Given the description of an element on the screen output the (x, y) to click on. 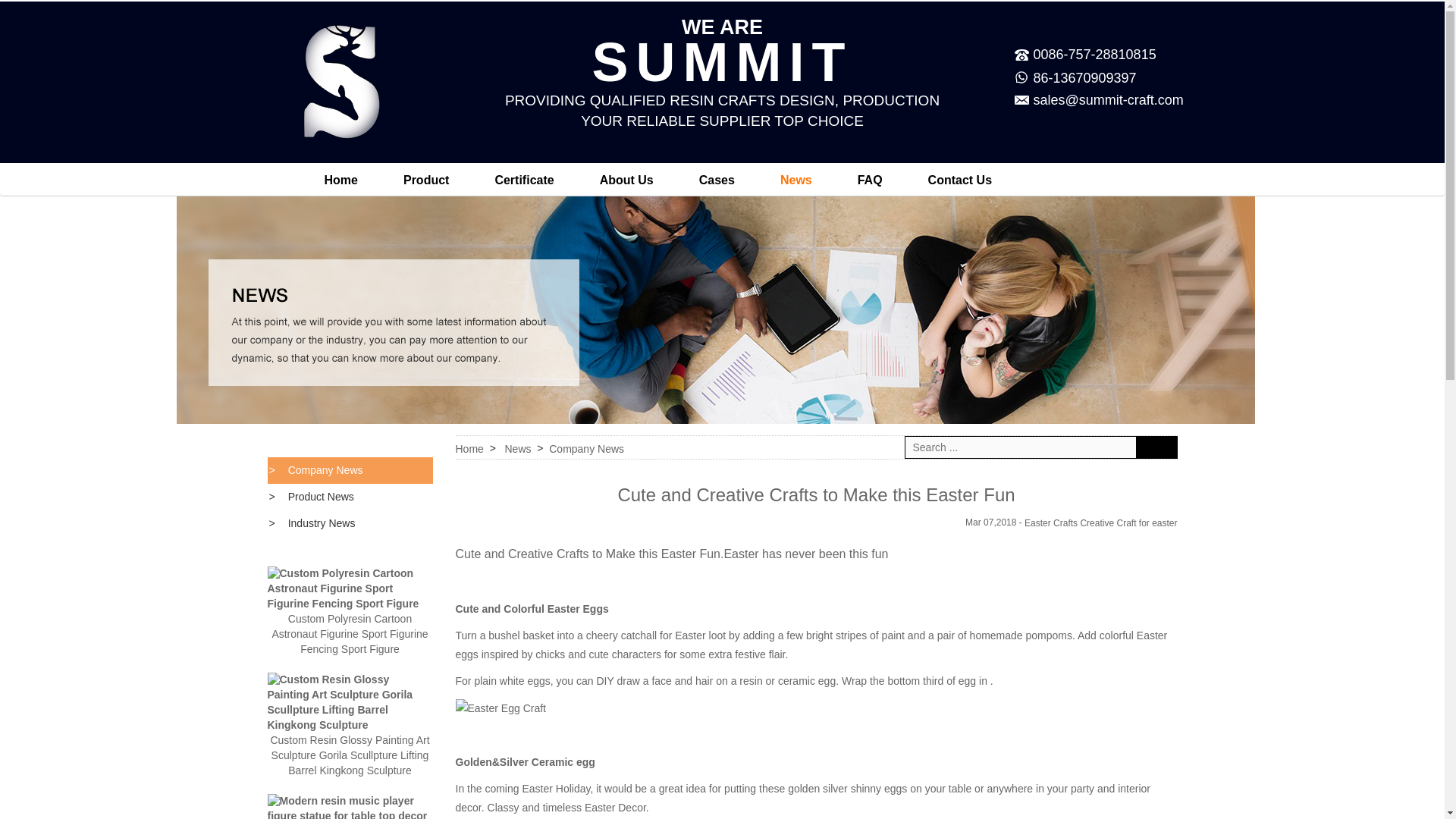
86-13670909397 (1083, 77)
News (291, 446)
Home (340, 178)
Product News (349, 497)
Product (425, 178)
Company News (349, 470)
